Given the description of an element on the screen output the (x, y) to click on. 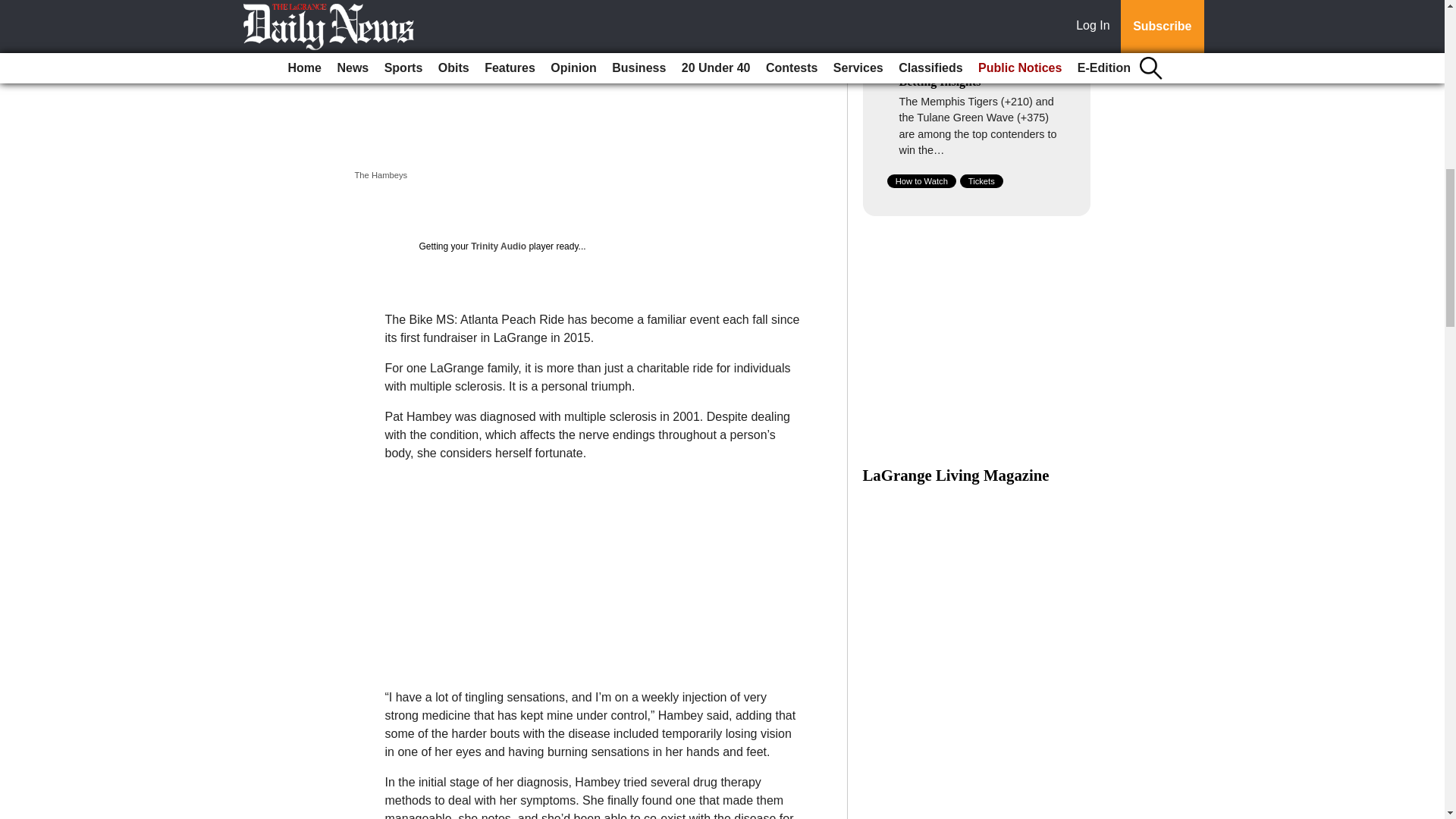
How to Watch (921, 181)
Tickets (981, 181)
Trinity Audio (497, 245)
